Given the description of an element on the screen output the (x, y) to click on. 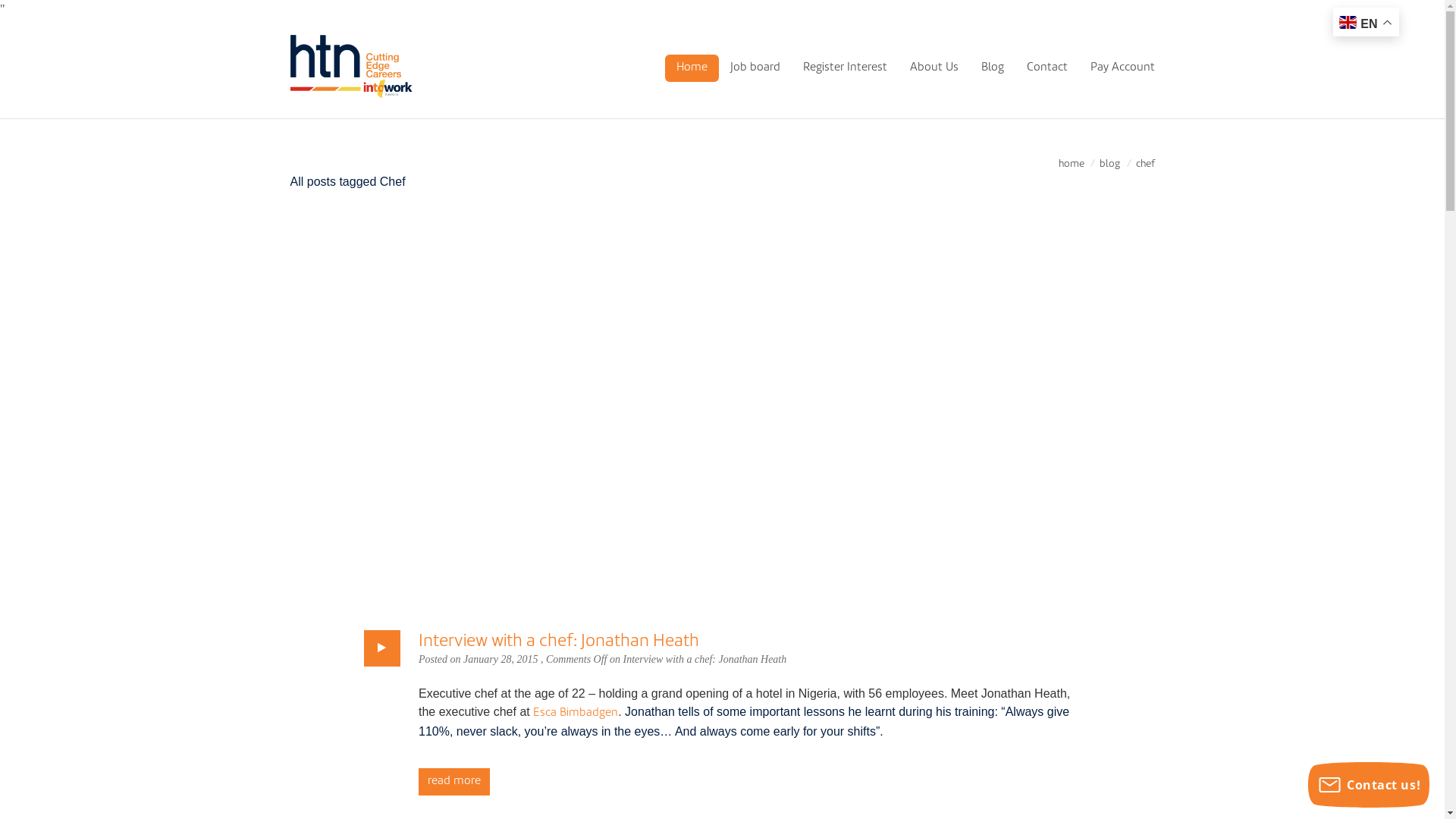
blog Element type: text (1109, 164)
Register Interest Element type: text (844, 68)
Blog Element type: text (991, 68)
About Us Element type: text (933, 68)
Pay Account Element type: text (1121, 68)
Home Element type: text (691, 68)
Job board Element type: text (754, 68)
Contact Element type: text (1046, 68)
Interview with a chef: Jonathan Heath Element type: text (558, 641)
read more Element type: text (453, 781)
Jonathan Heath Chef Interview Element type: hover (722, 410)
Contact us! Element type: text (1368, 784)
Esca Bimbadgen Element type: text (575, 712)
home Element type: text (1071, 164)
